Given the description of an element on the screen output the (x, y) to click on. 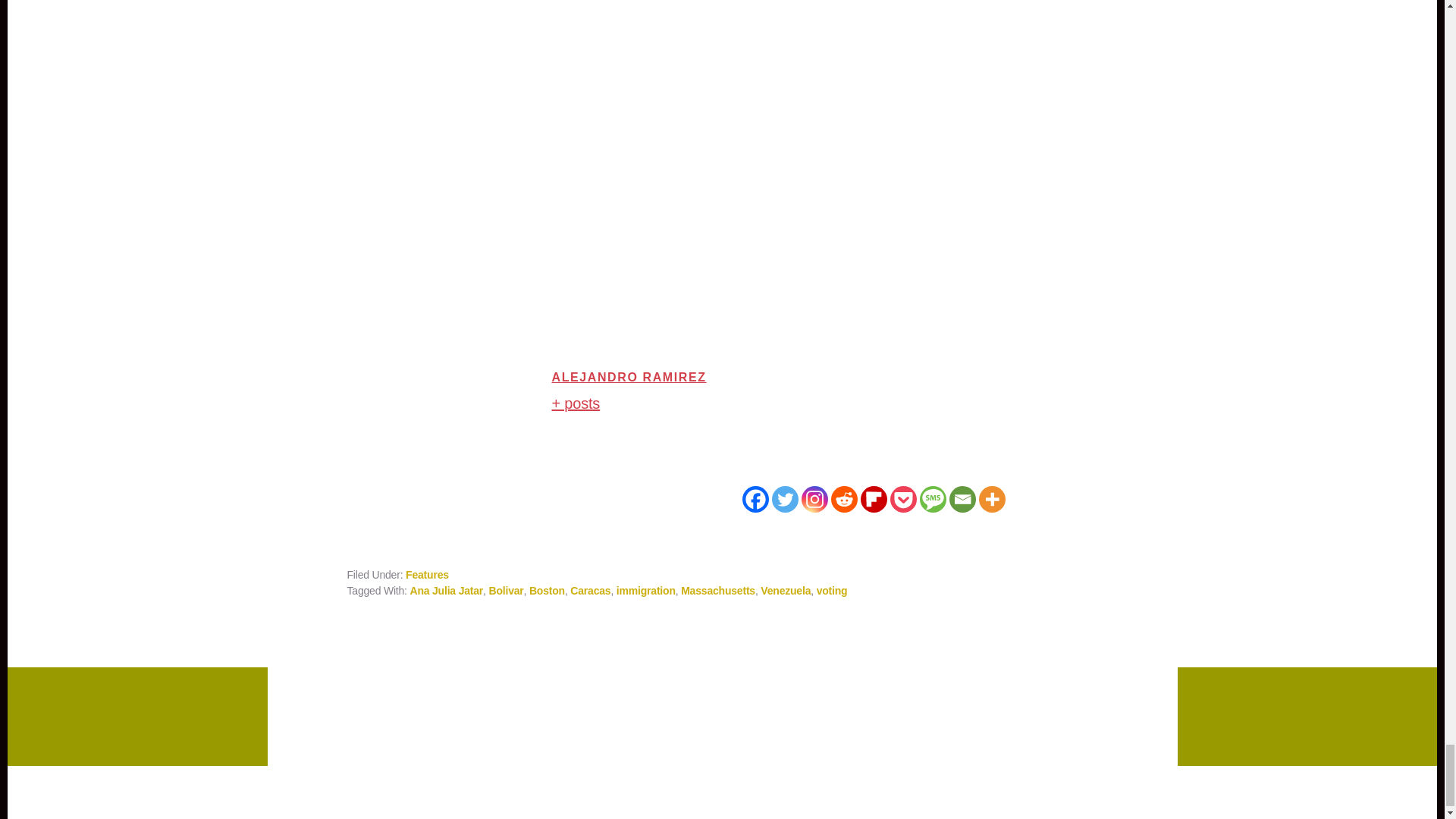
Pocket (903, 499)
ALEJANDRO RAMIREZ (628, 377)
Reddit (844, 499)
Flipboard (873, 499)
Instagram (813, 499)
Email (962, 499)
More (991, 499)
Facebook (754, 499)
Twitter (784, 499)
SMS (931, 499)
